Given the description of an element on the screen output the (x, y) to click on. 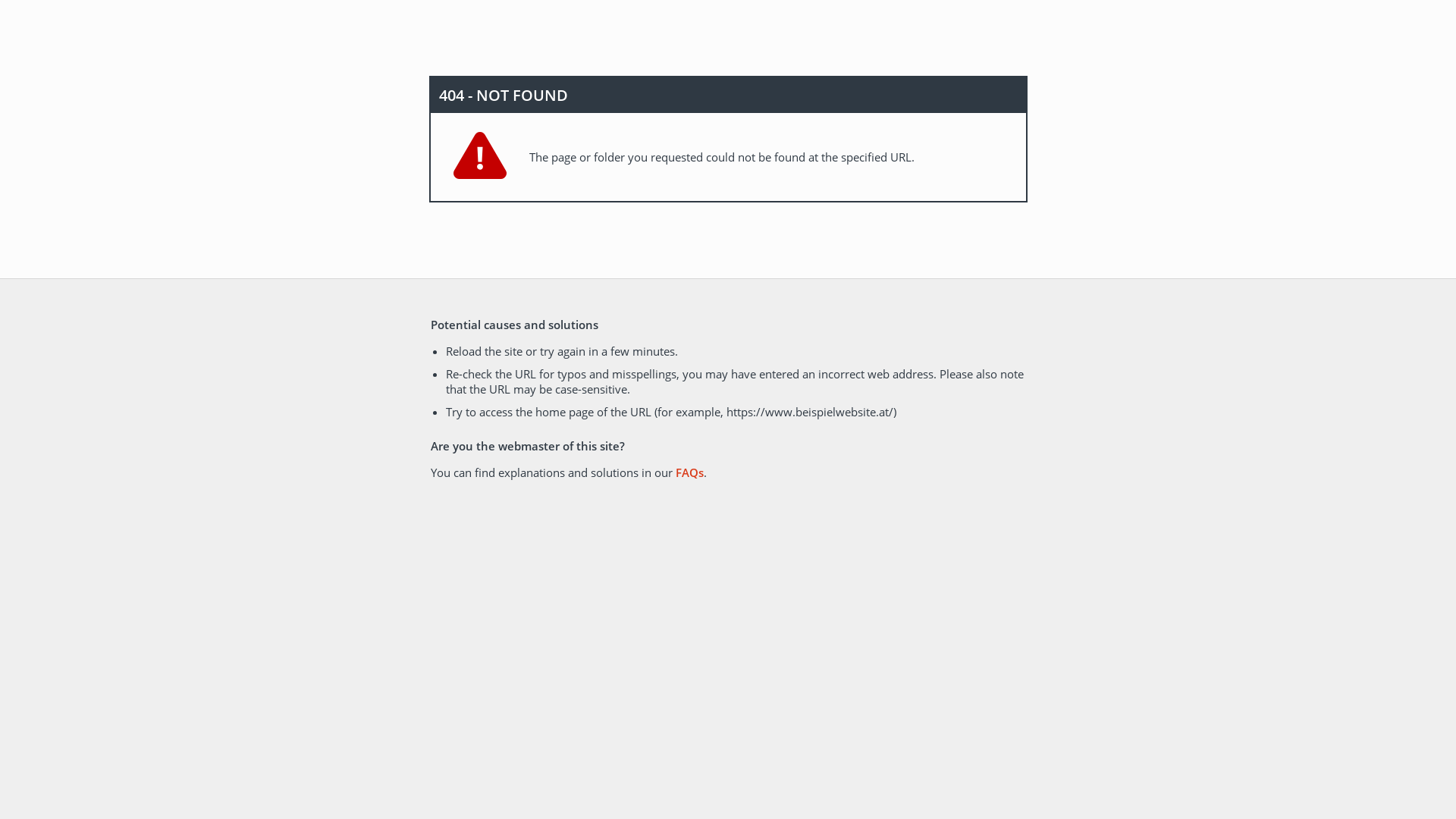
FAQs Element type: text (688, 472)
